Given the description of an element on the screen output the (x, y) to click on. 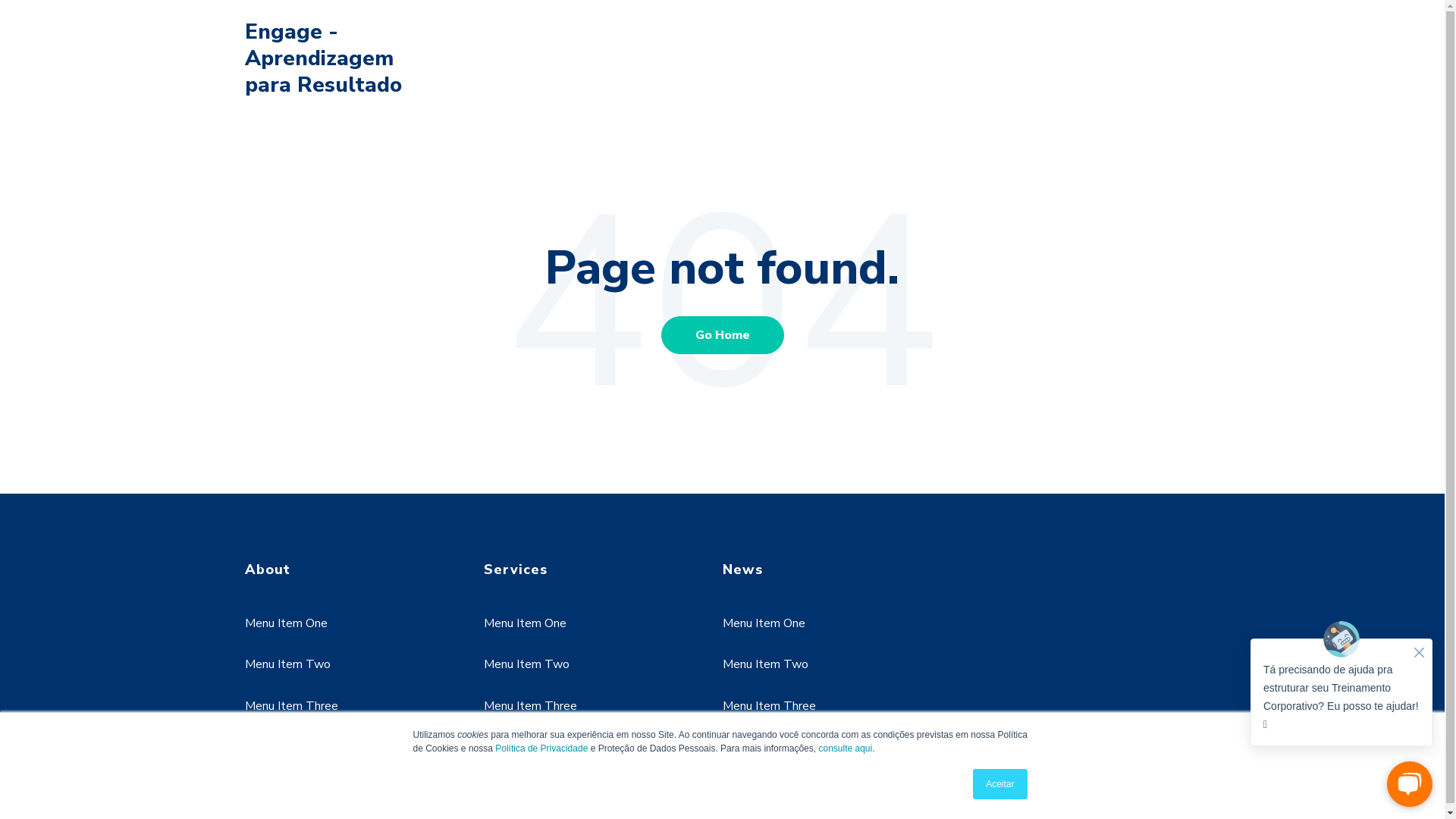
Menu Item Three Element type: text (530, 705)
Menu Item One Element type: text (762, 623)
consulte aqui Element type: text (845, 748)
Follow us on LinkedIn Element type: text (299, 770)
Menu Item Two Element type: text (286, 663)
Follow us on Twitter Element type: text (336, 770)
Menu Item One Element type: text (285, 623)
Aceitar Element type: text (999, 783)
Follow us on Facebook Element type: text (262, 770)
Menu Item Two Element type: text (526, 663)
Menu Item Two Element type: text (764, 663)
Go Home Element type: text (722, 334)
Menu Item Three Element type: text (768, 705)
Menu Item One Element type: text (524, 623)
Follow us on Instagram Element type: text (373, 770)
Menu Item Three Element type: text (290, 705)
